Given the description of an element on the screen output the (x, y) to click on. 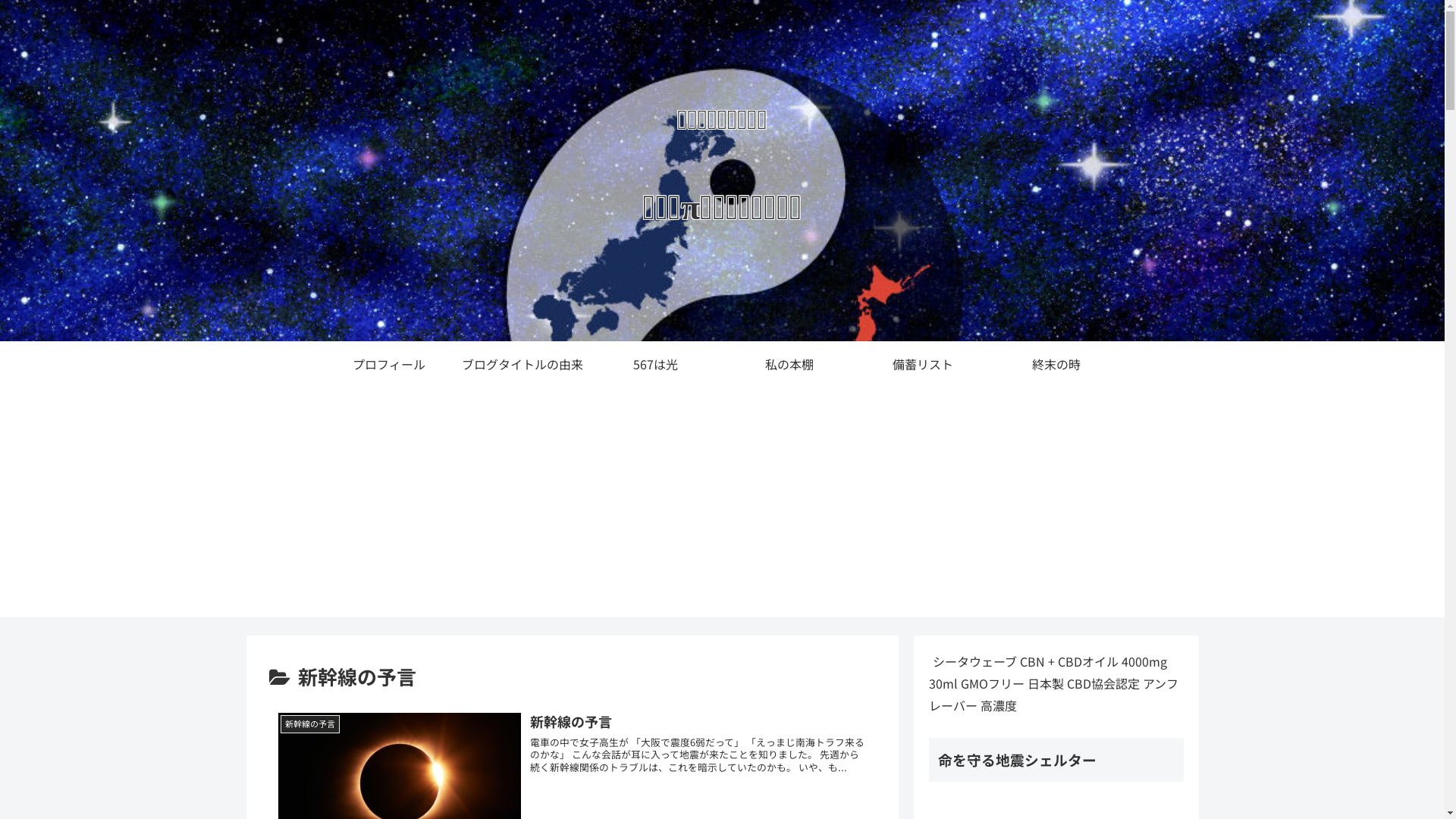
Advertisement Element type: hover (721, 510)
